Given the description of an element on the screen output the (x, y) to click on. 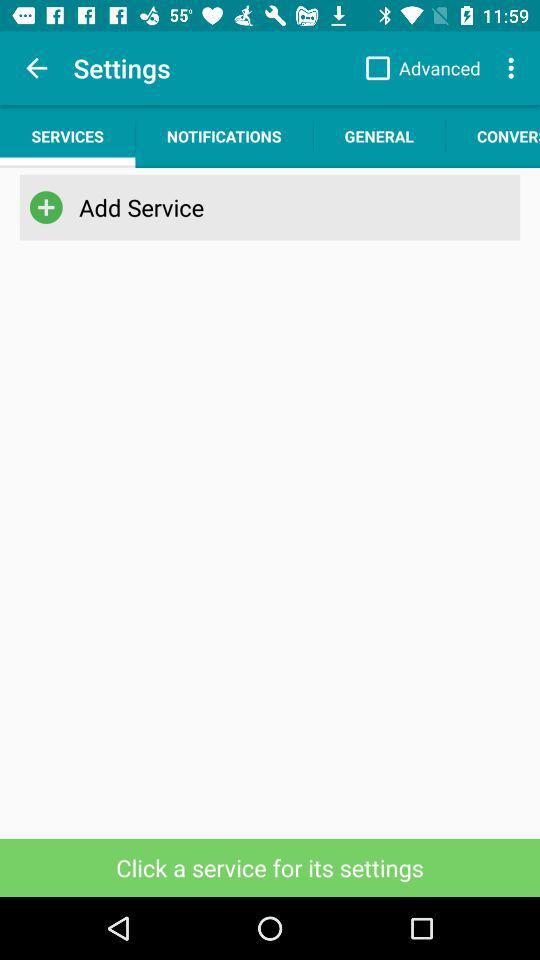
open icon to the right of the settings app (418, 68)
